Given the description of an element on the screen output the (x, y) to click on. 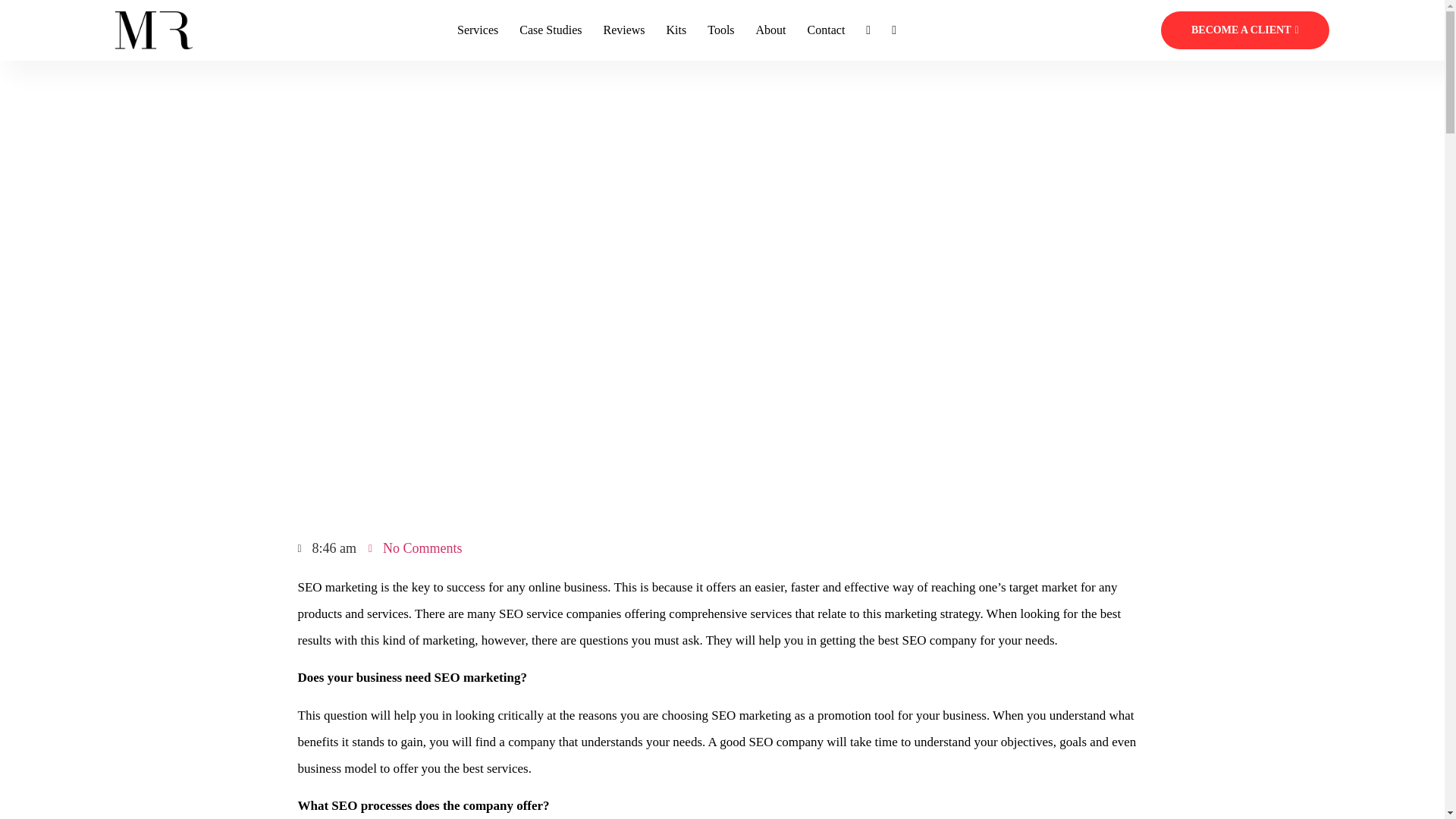
Case Studies (549, 30)
Services (477, 30)
Reviews (623, 30)
